Given the description of an element on the screen output the (x, y) to click on. 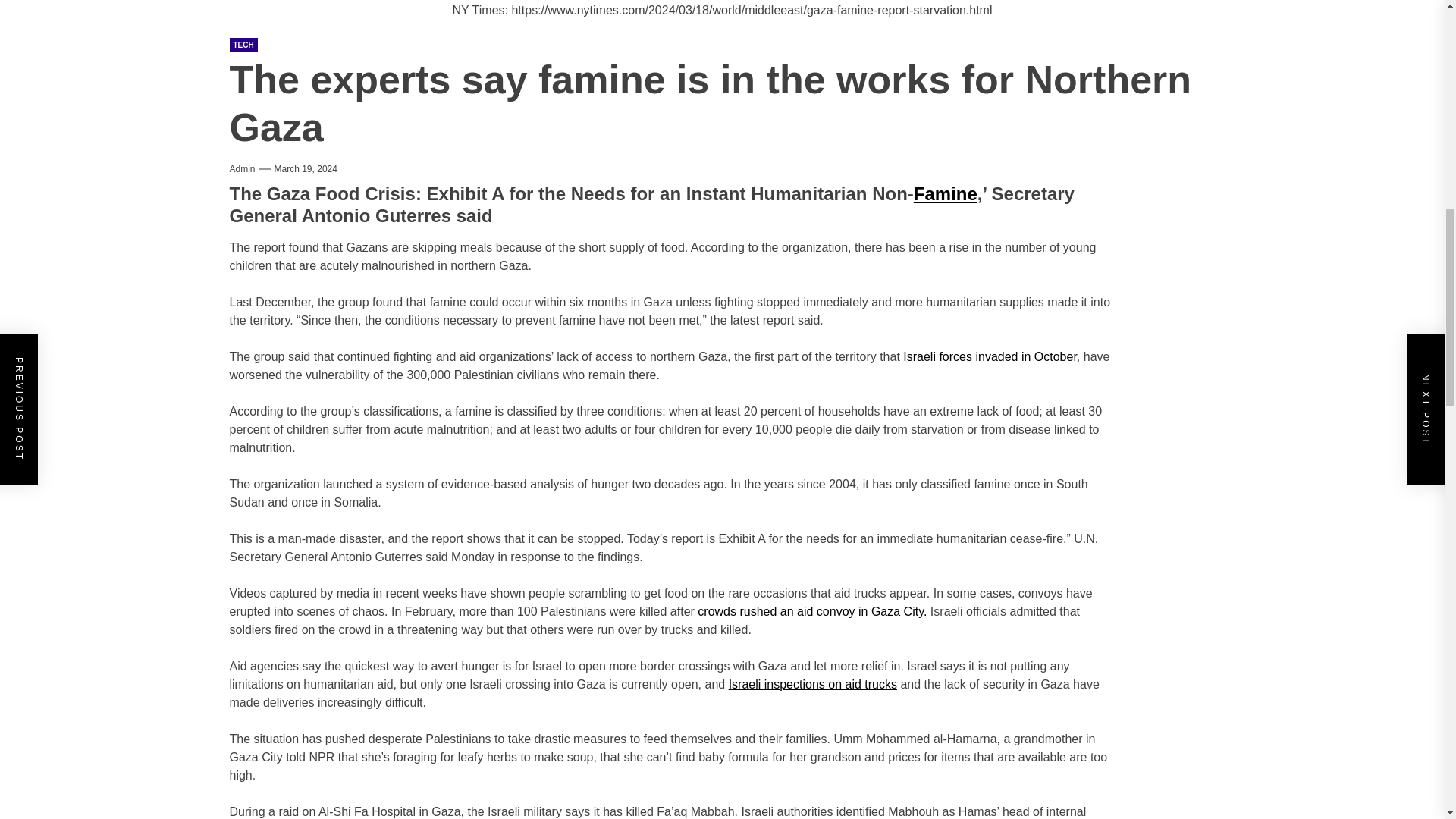
Admin (241, 169)
March 19, 2024 (306, 169)
TECH (242, 44)
